Given the description of an element on the screen output the (x, y) to click on. 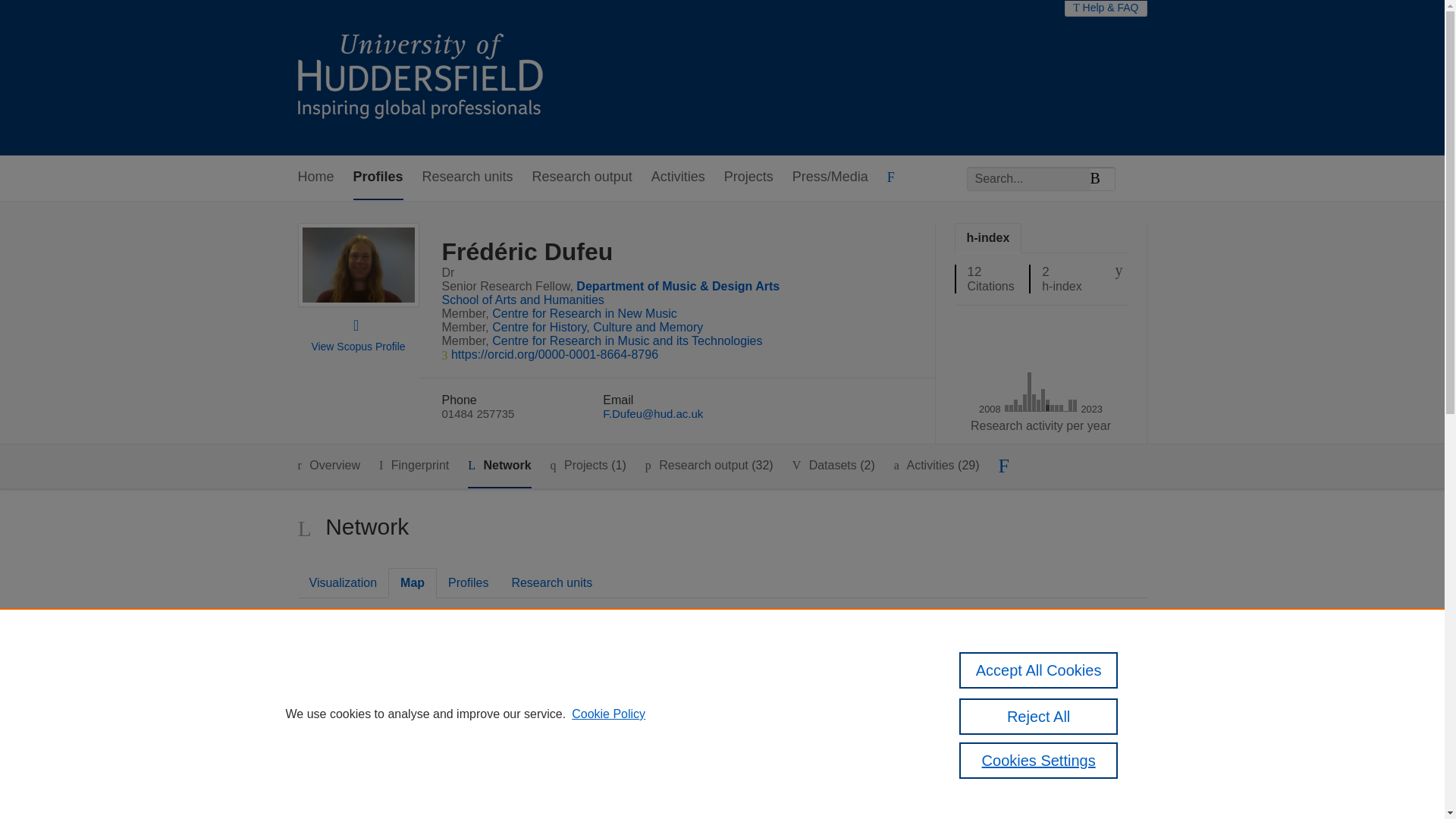
Research output (581, 177)
Orcid (554, 354)
Profiles (467, 582)
View Scopus Profile (357, 346)
Fingerprint (413, 465)
Visualization (342, 582)
Centre for Research in New Music (584, 313)
School of Arts and Humanities (522, 299)
Profiles (378, 177)
Activities (677, 177)
Map (411, 582)
Research units (467, 177)
Centre for History, Culture and Memory (597, 327)
Network (499, 466)
